Given the description of an element on the screen output the (x, y) to click on. 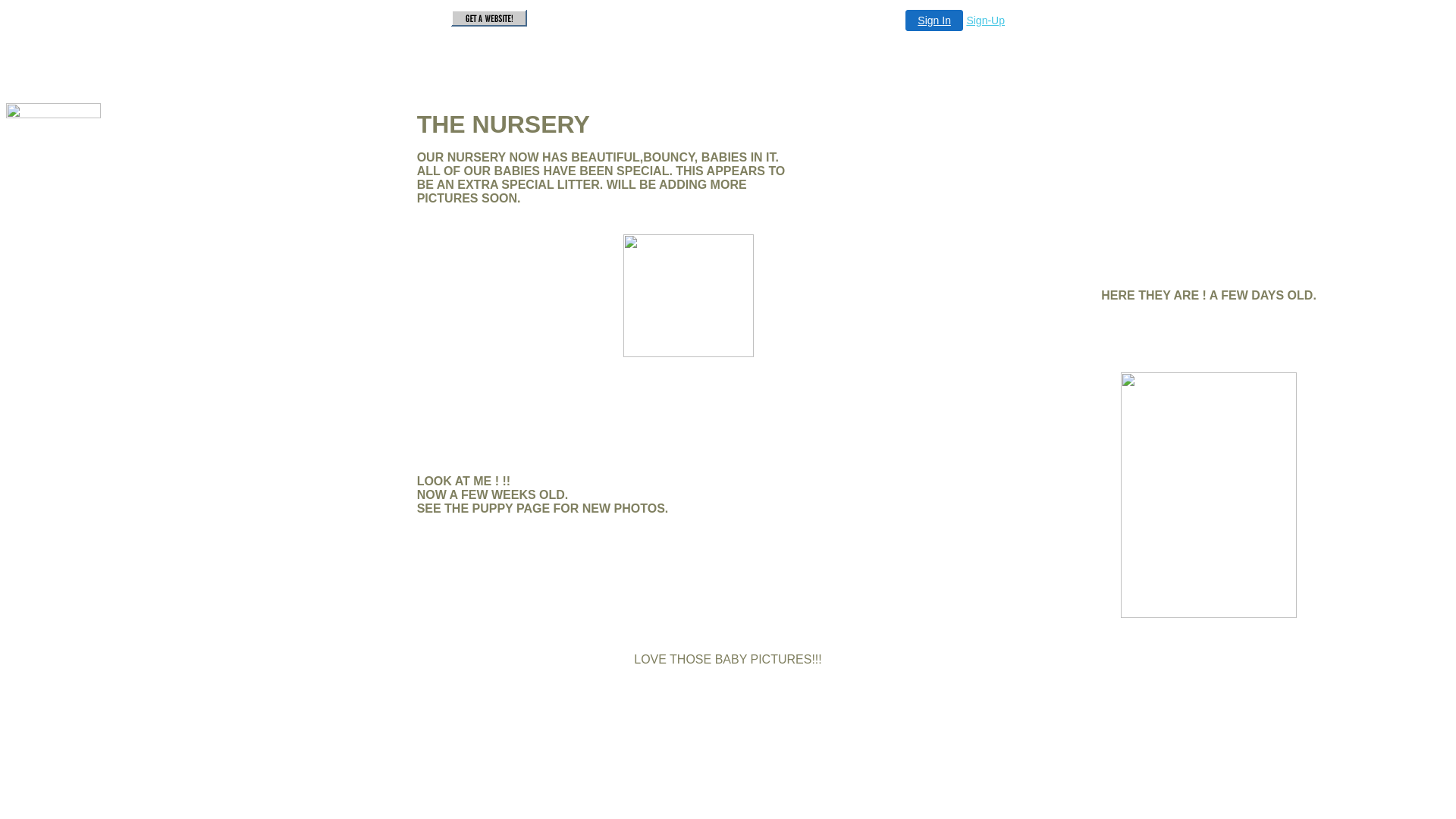
Cubbies Kids Updated Element type: text (70, 279)
Sign In Element type: text (934, 20)
Photo2 Page: Element type: text (44, 511)
Contact Page Element type: text (44, 175)
Puppy Page Element type: text (40, 382)
Cubbies Kids Element type: text (44, 227)
Favorite Links Page Element type: text (63, 304)
Photo Page Element type: text (39, 356)
Home Page Element type: text (39, 124)
Sign-Up Element type: text (985, 20)
More Puppy Photos Element type: text (62, 433)
Contact Us Element type: text (37, 536)
Cubbies Page Element type: text (46, 201)
Available Now Element type: text (46, 485)
Guest Book Page Element type: text (56, 330)
About Page Element type: text (39, 150)
Available / photos Element type: text (57, 459)
The Nursery-The Puppies Element type: text (79, 253)
Available Element type: text (32, 407)
